Given the description of an element on the screen output the (x, y) to click on. 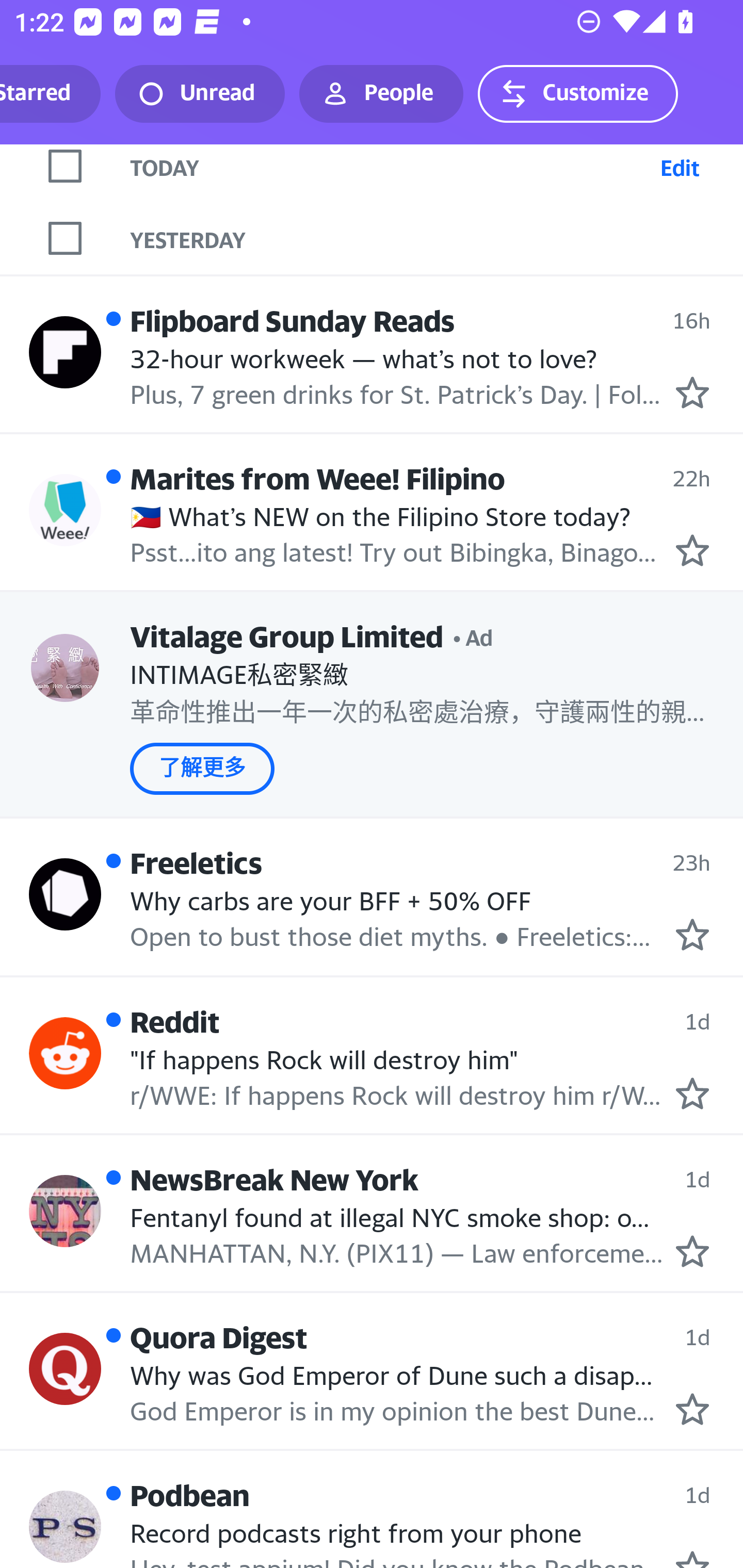
Unread (199, 93)
People (381, 93)
Customize (577, 93)
YESTERDAY (436, 238)
Profile
Flipboard Sunday Reads (64, 352)
Mark as starred. (692, 392)
Profile
Marites from Weee! Filipino (64, 509)
Mark as starred. (692, 549)
Profile
Freeletics (64, 893)
Mark as starred. (692, 935)
Profile
Reddit (64, 1053)
Mark as starred. (692, 1093)
Profile
NewsBreak New York (64, 1210)
Mark as starred. (692, 1252)
Profile
Quora Digest (64, 1368)
Mark as starred. (692, 1408)
Profile
Podbean (64, 1527)
